Given the description of an element on the screen output the (x, y) to click on. 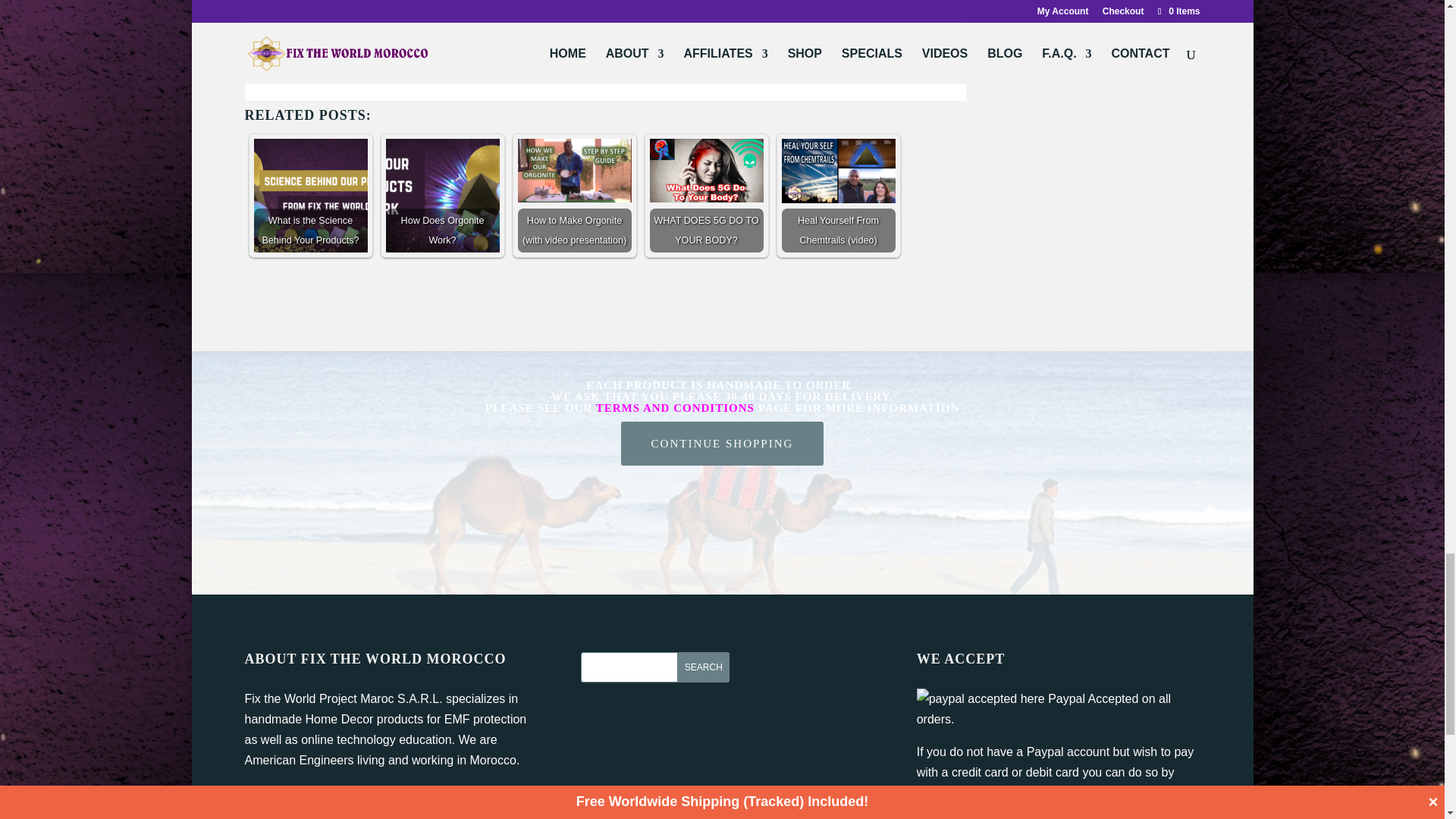
How Does Orgonite Work? (442, 195)
WHAT DOES 5G DO TO YOUR BODY? (705, 170)
What is the Science Behind Your Products? (309, 195)
Search (703, 666)
